Given the description of an element on the screen output the (x, y) to click on. 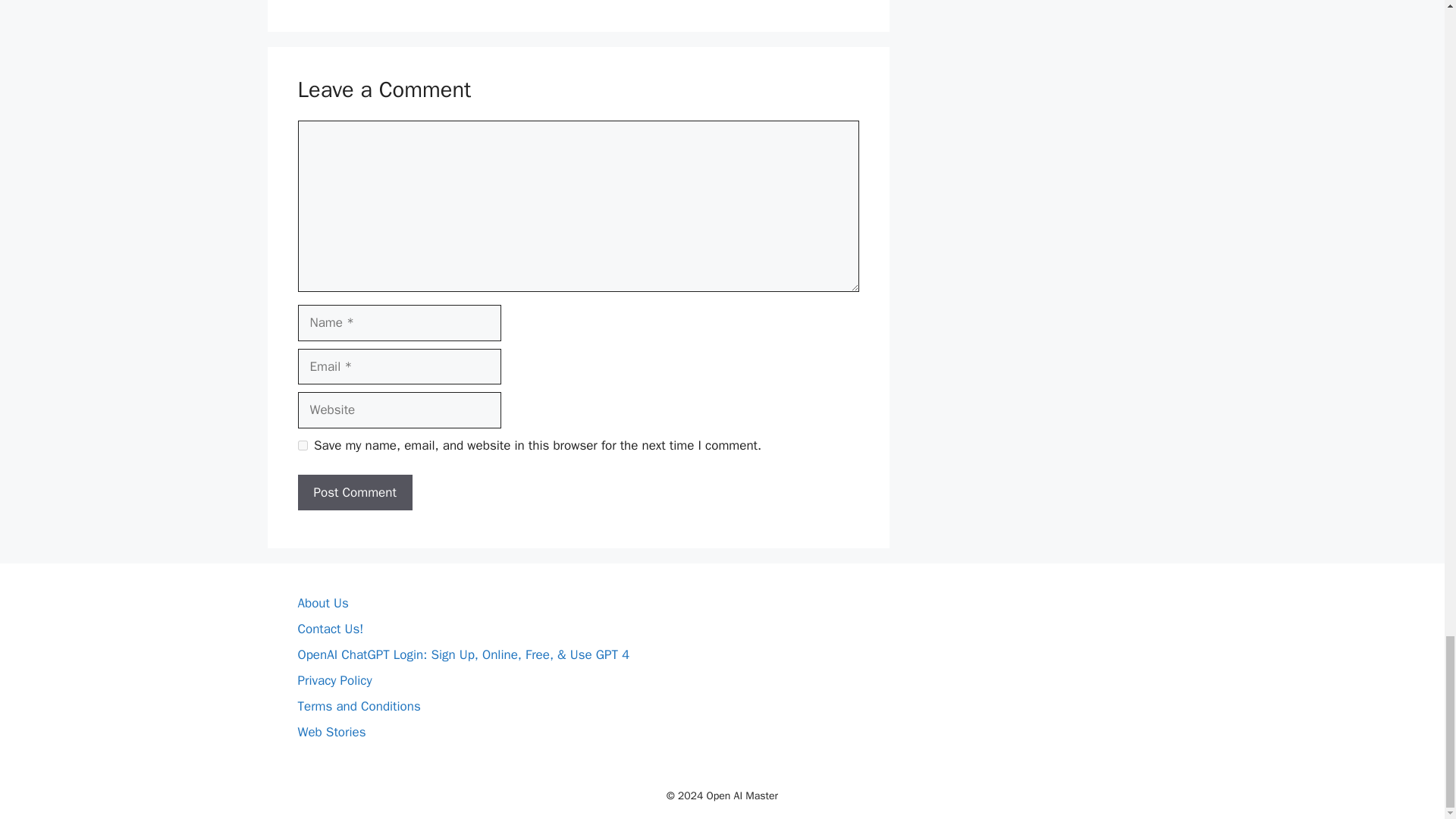
yes (302, 445)
Post Comment (354, 493)
Post Comment (354, 493)
